Given the description of an element on the screen output the (x, y) to click on. 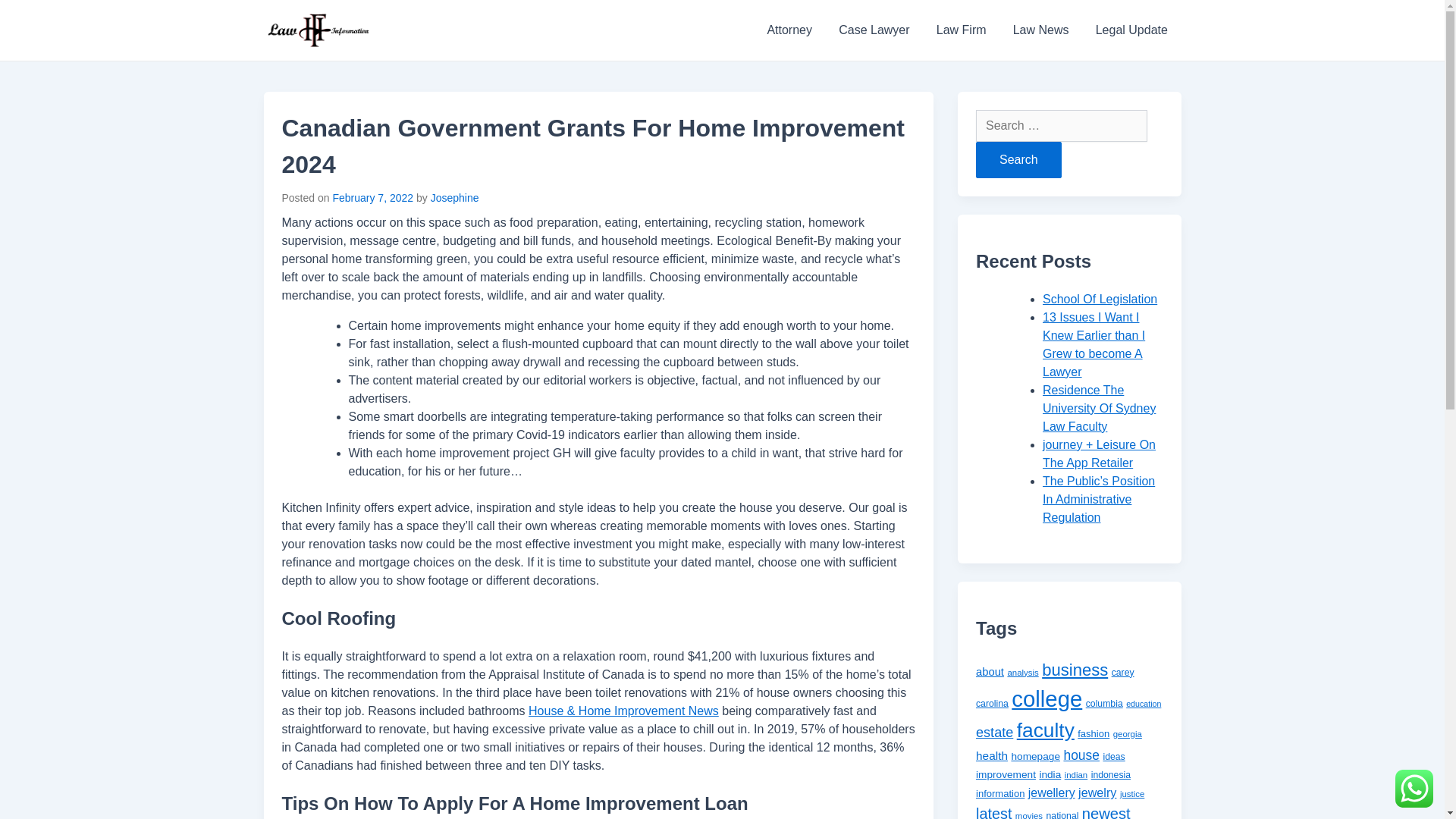
Search (1018, 159)
Legal Update (1130, 30)
fashion (1093, 733)
Search (1018, 159)
faculty (1045, 730)
analysis (1022, 672)
February 7, 2022 (372, 197)
carey (1123, 672)
Law News (1039, 30)
Case Lawyer (874, 30)
